Given the description of an element on the screen output the (x, y) to click on. 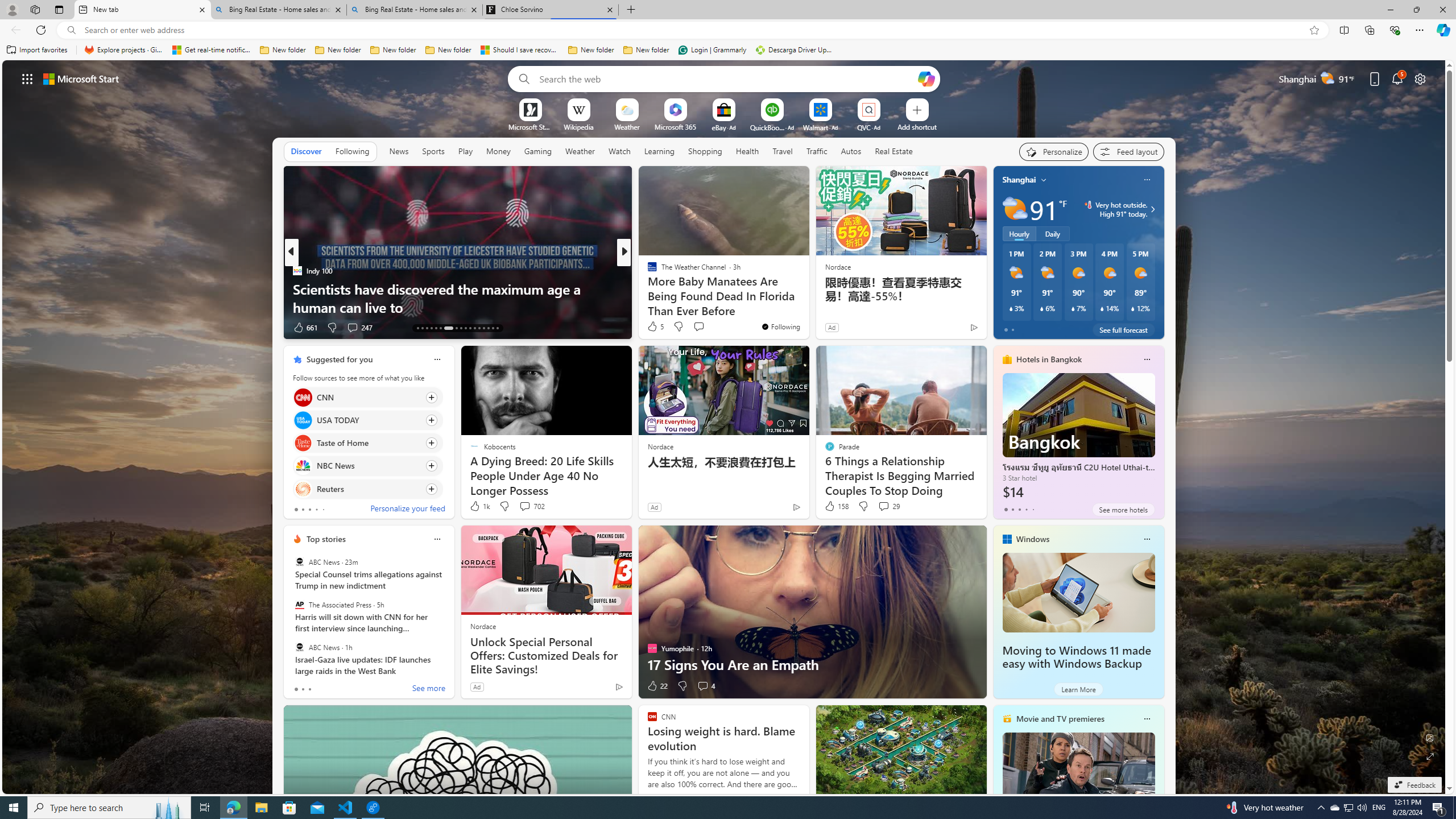
View comments 7 Comment (698, 327)
Click to follow source NBC News (367, 465)
Hotels in Bangkok (1048, 359)
Import favorites (36, 49)
Autos (850, 151)
To get missing image descriptions, open the context menu. (529, 109)
View comments 19 Comment (703, 327)
View comments 29 Comment (883, 505)
